Given the description of an element on the screen output the (x, y) to click on. 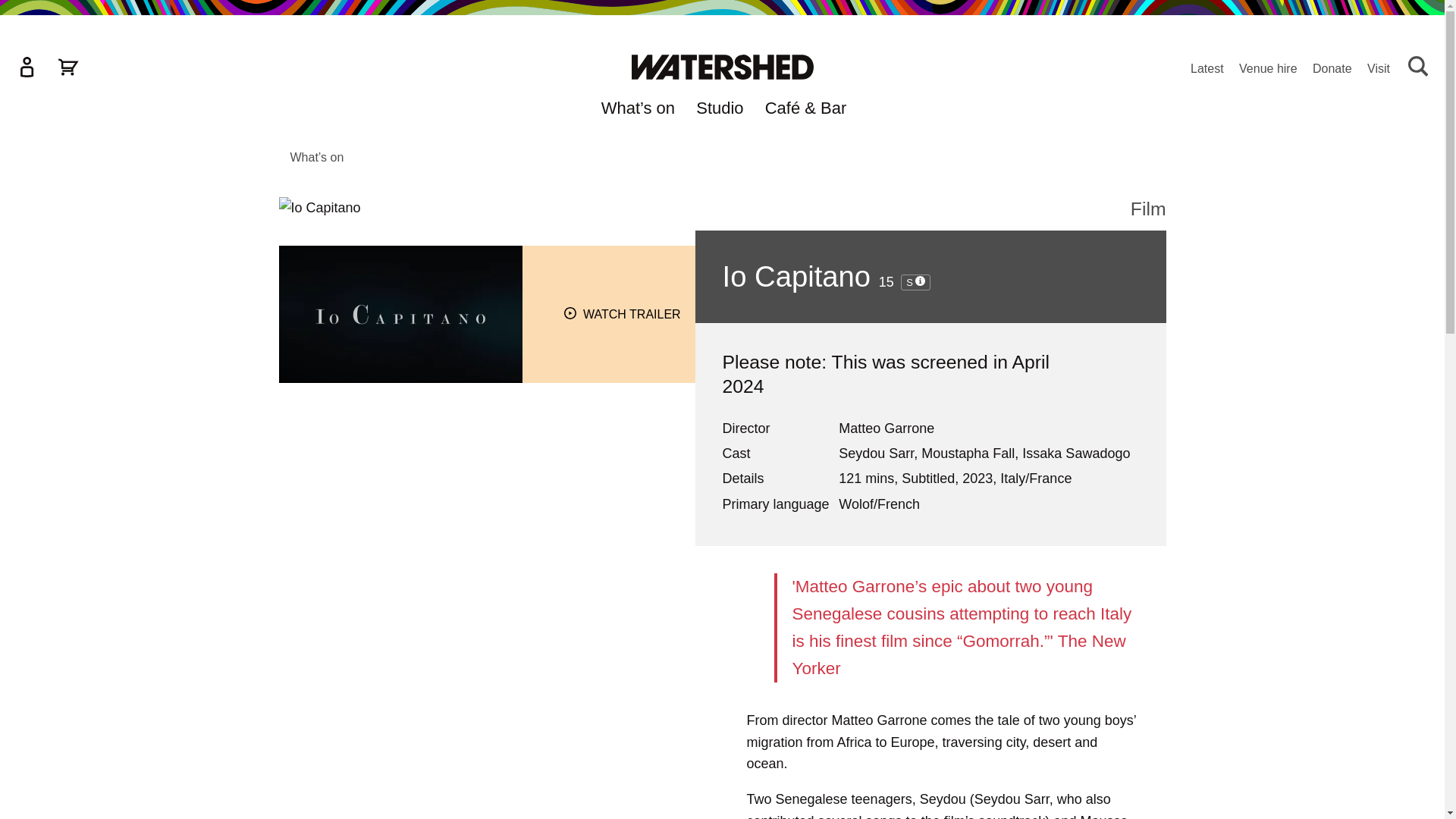
Latest (1207, 69)
Search (1417, 66)
Watershed (721, 66)
Donate (1332, 69)
Venue hire (1268, 69)
Visit (1378, 69)
Studio (718, 110)
Account (26, 66)
info (919, 280)
Play (570, 313)
S (915, 282)
  WATCH TRAILER (622, 314)
Cart (68, 66)
